Given the description of an element on the screen output the (x, y) to click on. 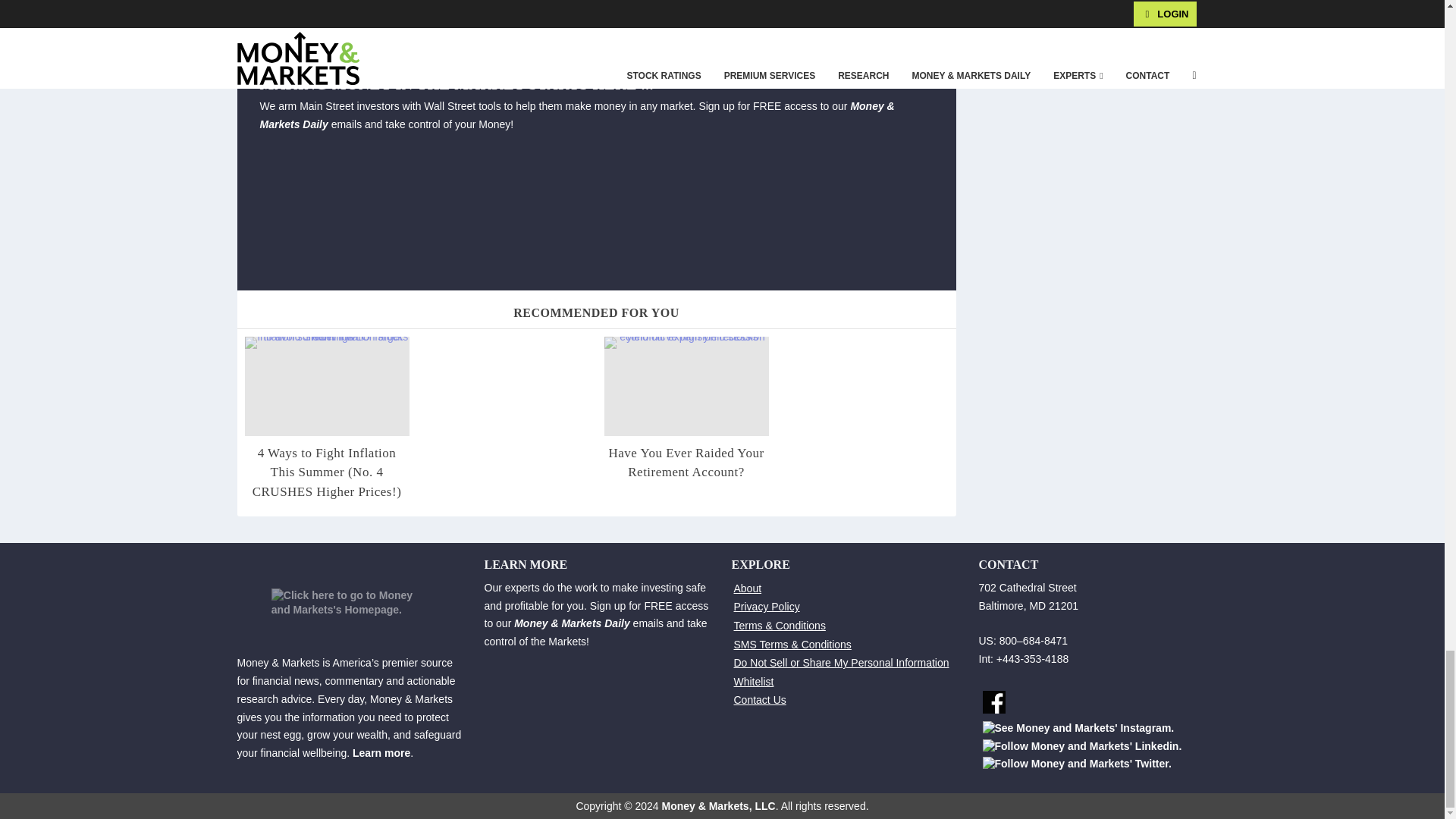
Have You Ever Raided Your Retirement Account? (685, 462)
Privacy Policy (766, 606)
Whitelist (753, 681)
Have You Ever Raided Your Retirement Account? (685, 462)
Have You Ever Raided Your Retirement Account? (686, 385)
Learn more (381, 752)
Do Not Sell or Share My Personal Information (841, 662)
About (747, 588)
